Given the description of an element on the screen output the (x, y) to click on. 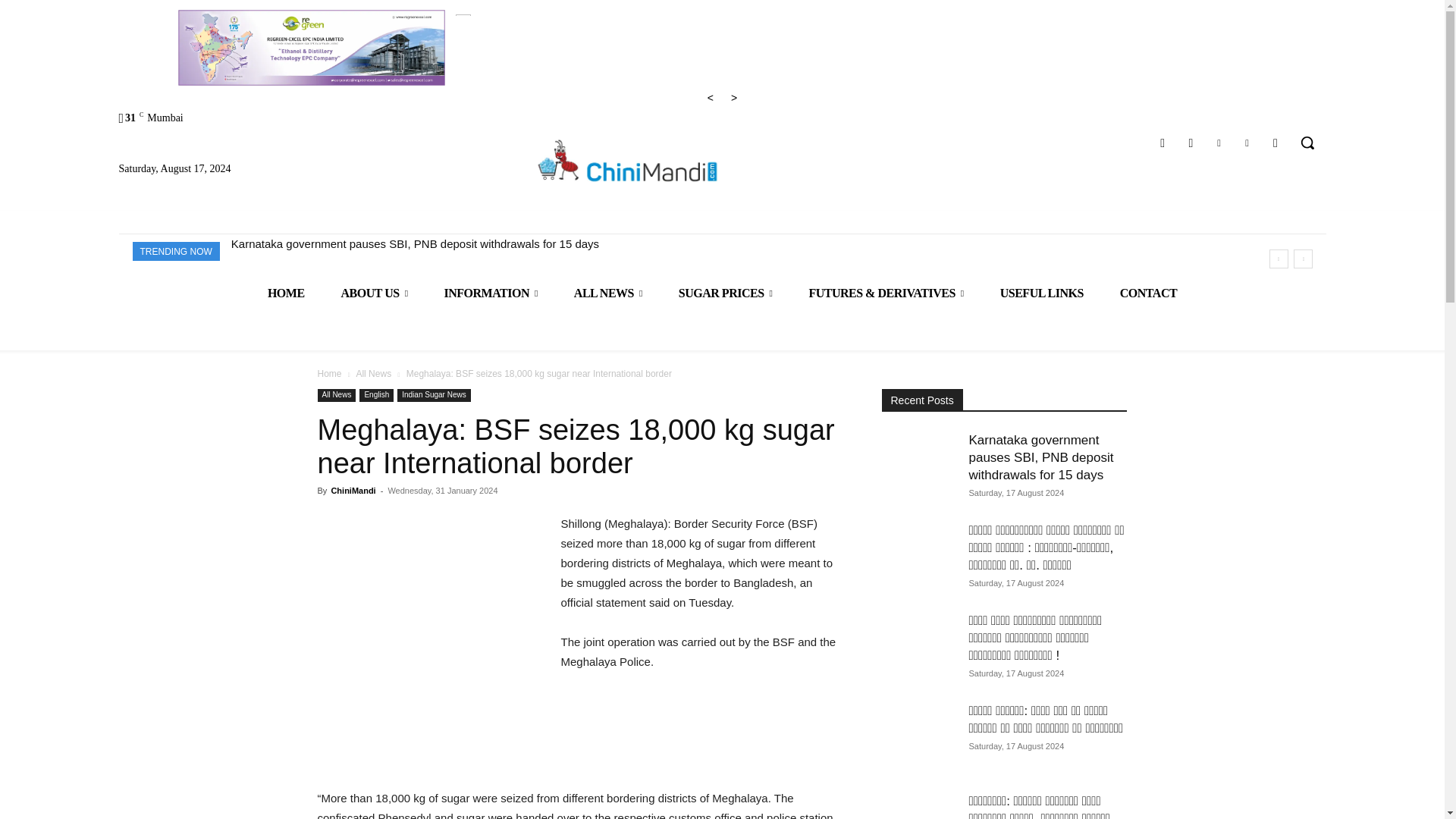
Twitter (1246, 142)
Instagram (1190, 142)
Linkedin (1218, 142)
Facebook (1163, 142)
Youtube (1275, 142)
